Given the description of an element on the screen output the (x, y) to click on. 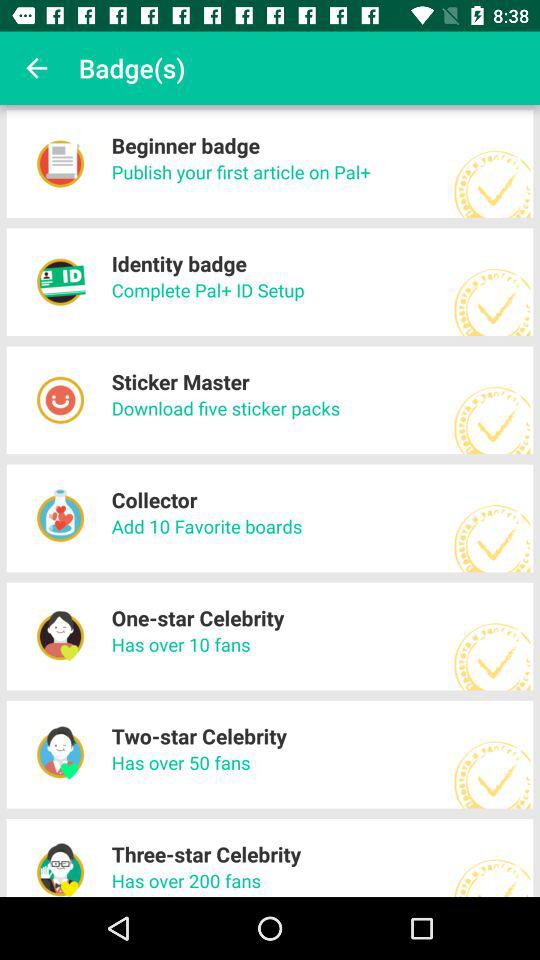
click the app next to badge(s) icon (36, 68)
